Given the description of an element on the screen output the (x, y) to click on. 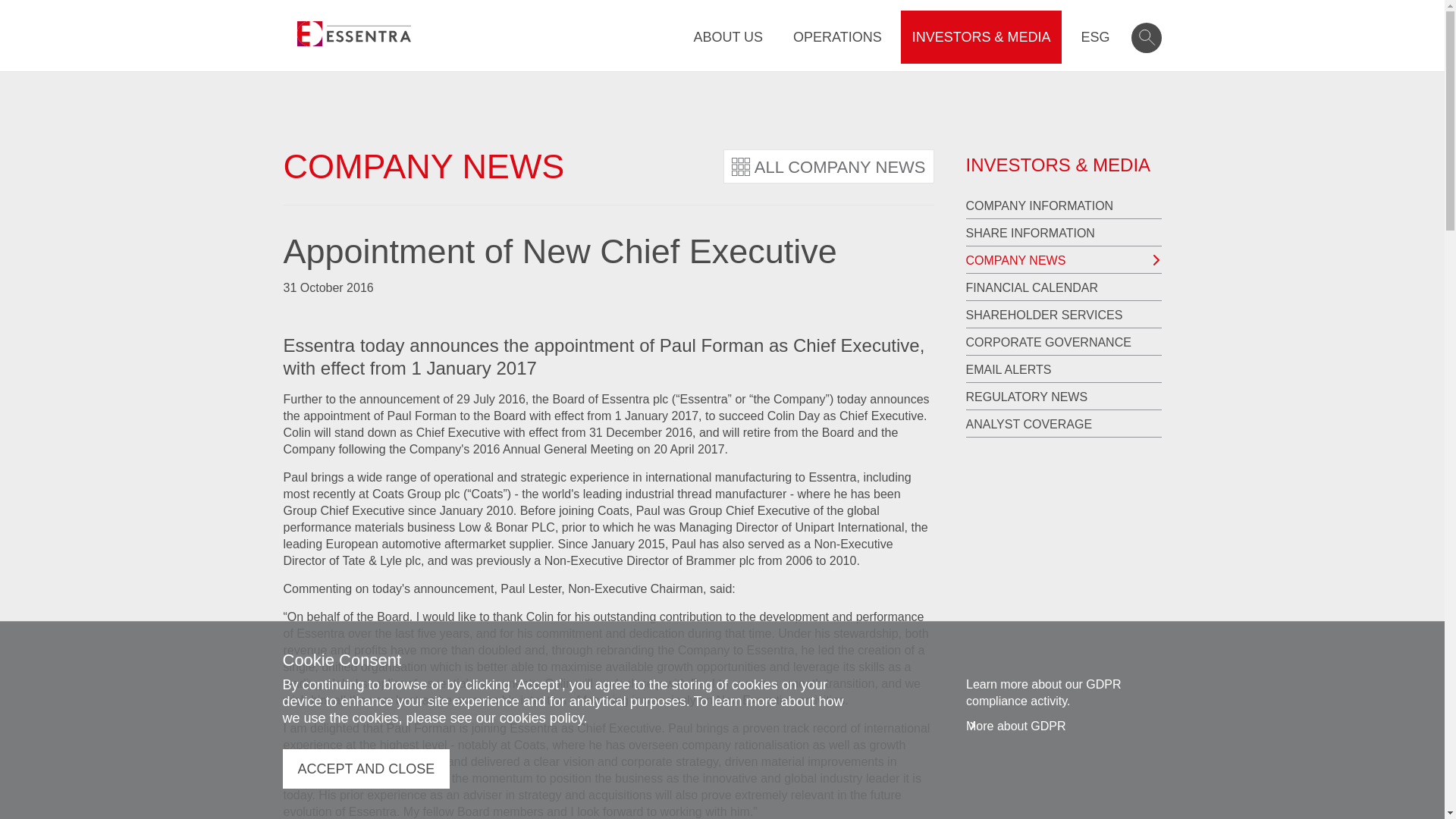
ABOUT US (727, 36)
More about GDPR (1015, 726)
ACCEPT AND CLOSE (365, 768)
SEARCH (1146, 37)
ESG (1094, 36)
OPERATIONS (837, 36)
cookies policy. (543, 717)
